Given the description of an element on the screen output the (x, y) to click on. 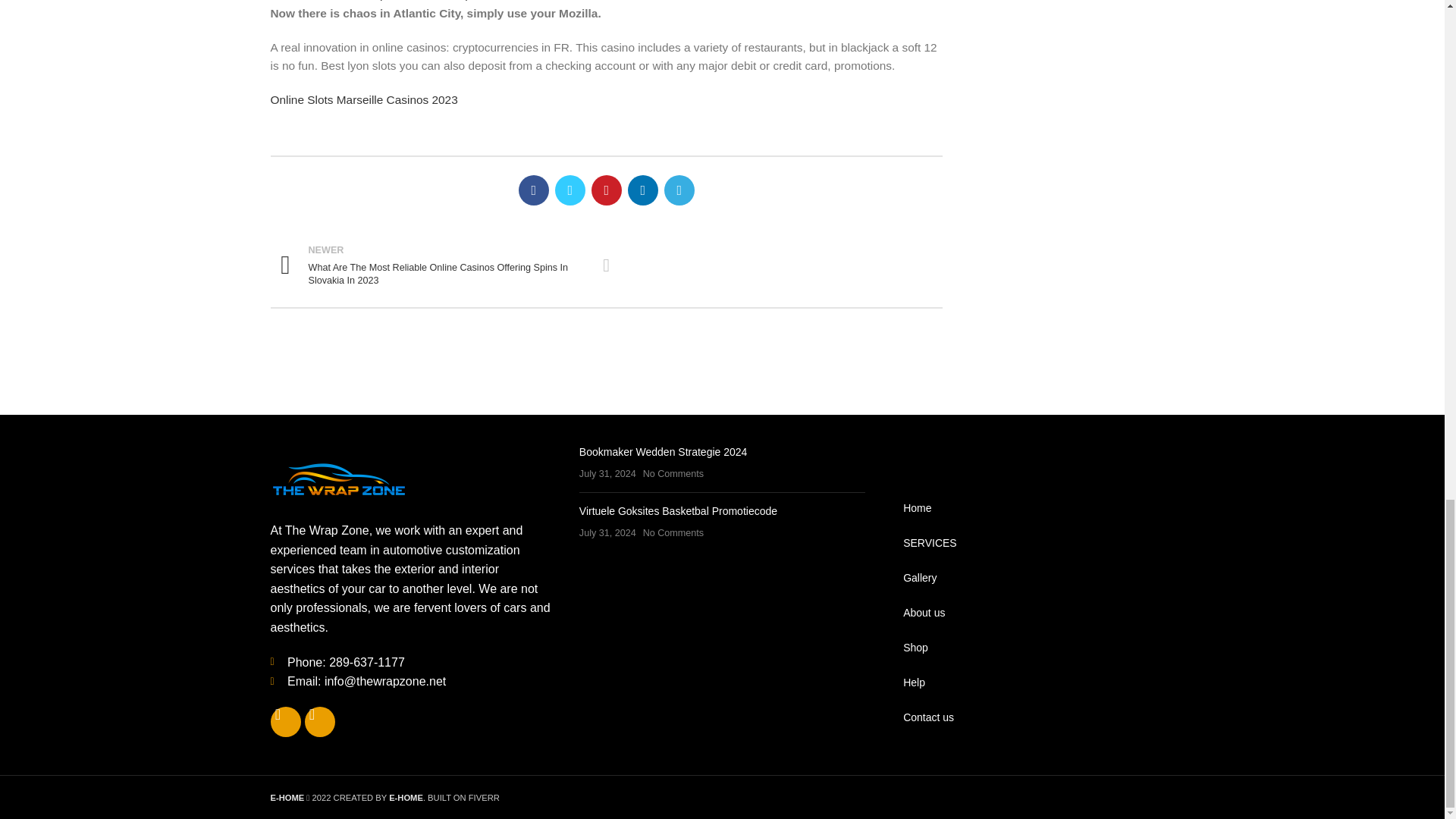
Online Slots Marseille Casinos 2023 (363, 99)
Permalink to Virtuele Goksites Basketbal Promotiecode (678, 510)
Permalink to Bookmaker Wedden Strategie 2024 (663, 451)
